Given the description of an element on the screen output the (x, y) to click on. 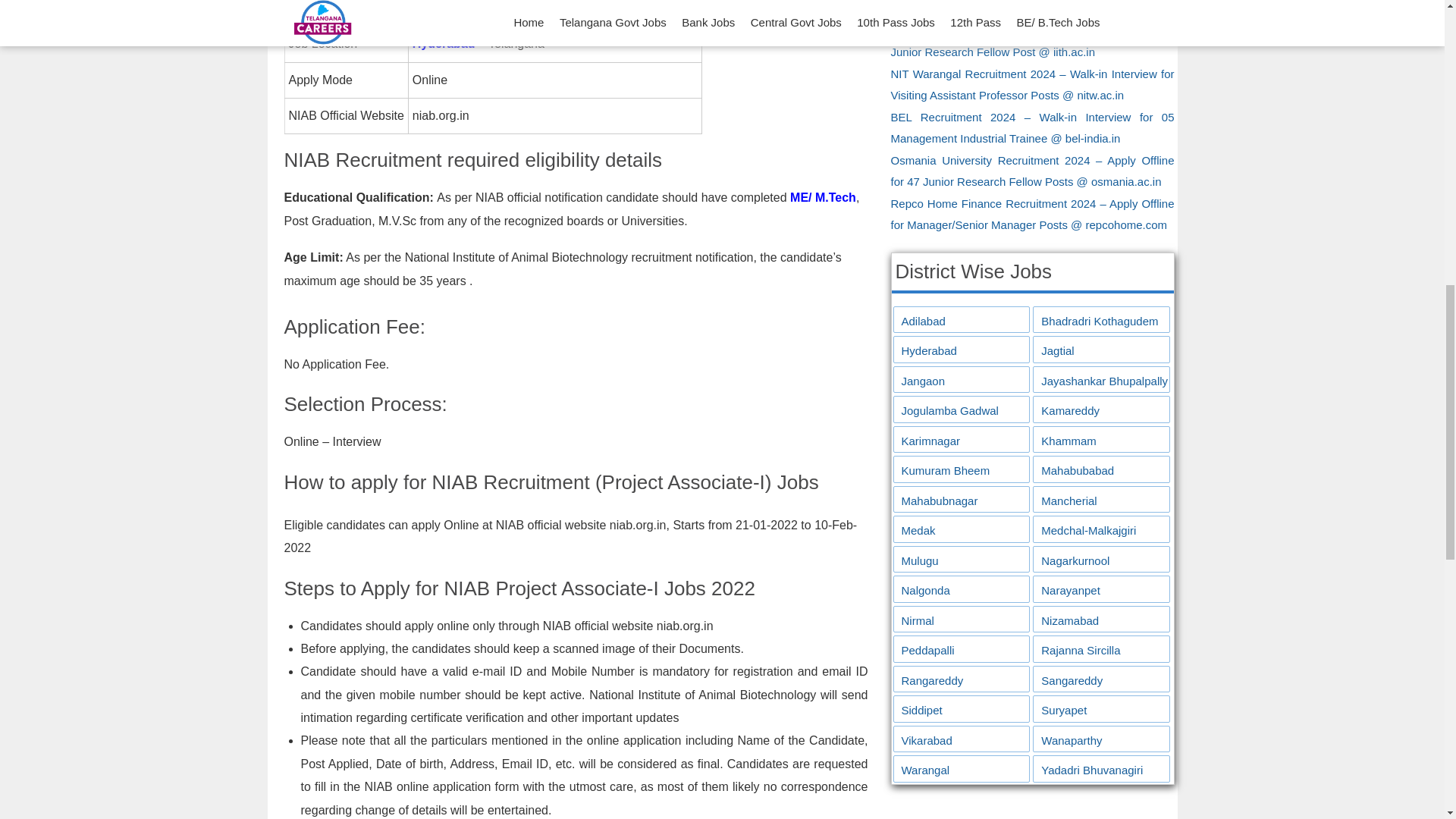
Adilabad (961, 321)
Hyderabad (444, 42)
